Given the description of an element on the screen output the (x, y) to click on. 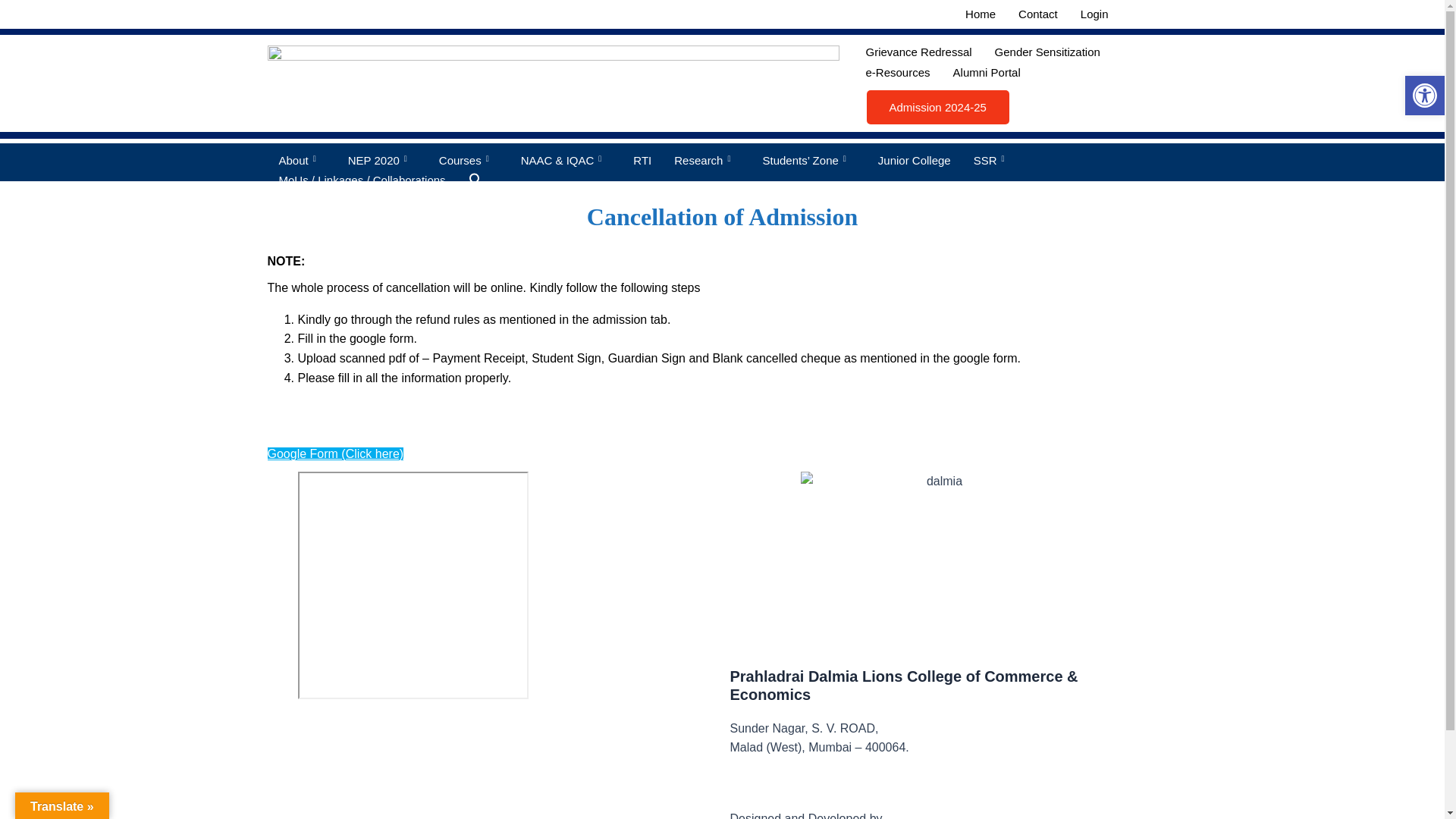
Gender Sensitization (1048, 52)
Accessibility Tools (1424, 95)
Courses (468, 160)
Login (1102, 14)
Accessibility Tools (1424, 95)
Contact (1037, 14)
Admission 2024-25 (937, 107)
NEP 2020 (382, 160)
About (301, 160)
e-Resources (898, 72)
Home (980, 14)
Alumni Portal (987, 72)
Grievance Redressal (919, 52)
